Given the description of an element on the screen output the (x, y) to click on. 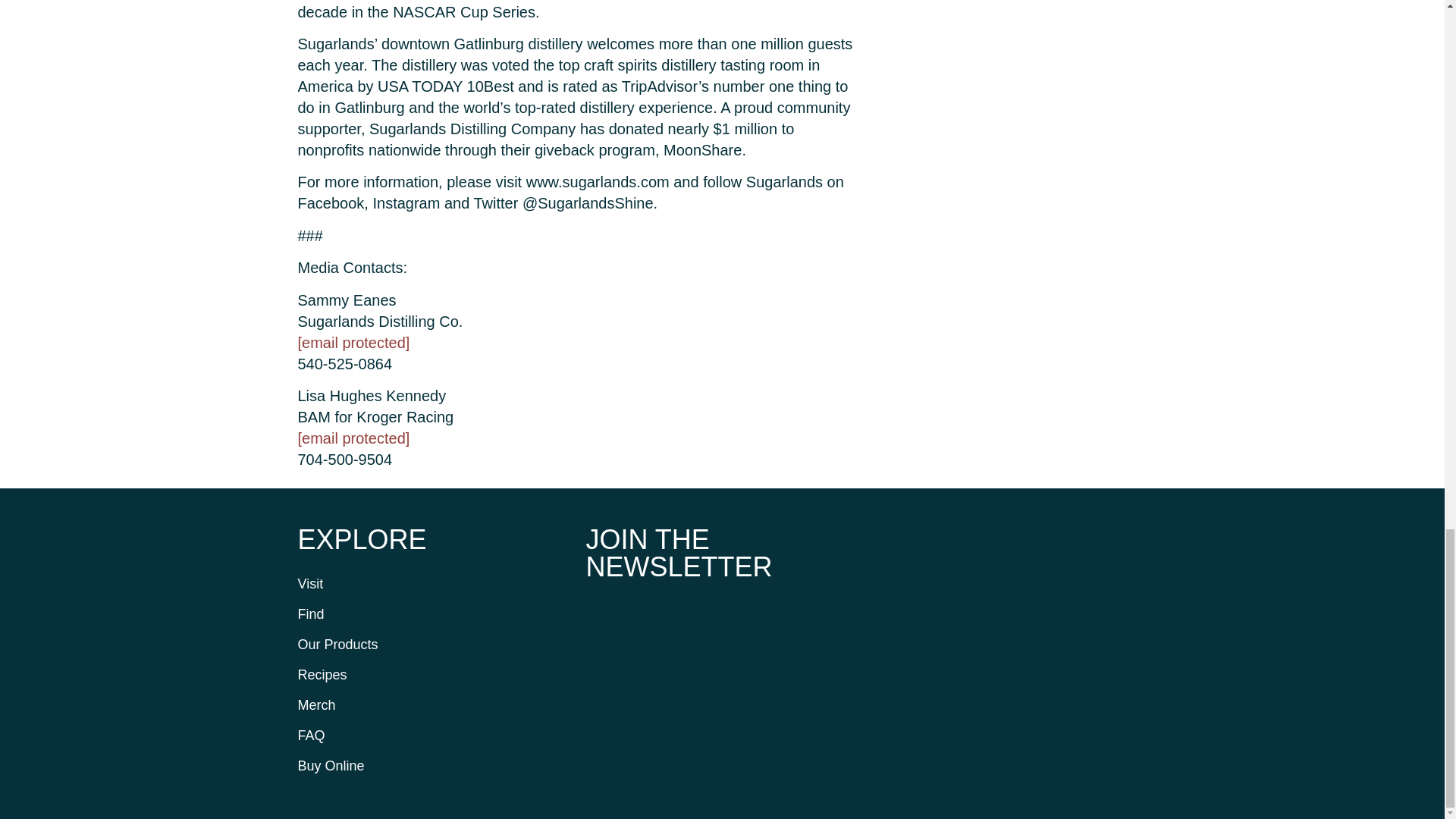
Buy Online (433, 766)
Recipes (433, 675)
Merch (433, 705)
Find (433, 613)
FAQ (433, 735)
Visit (433, 583)
Our Products (433, 644)
